Given the description of an element on the screen output the (x, y) to click on. 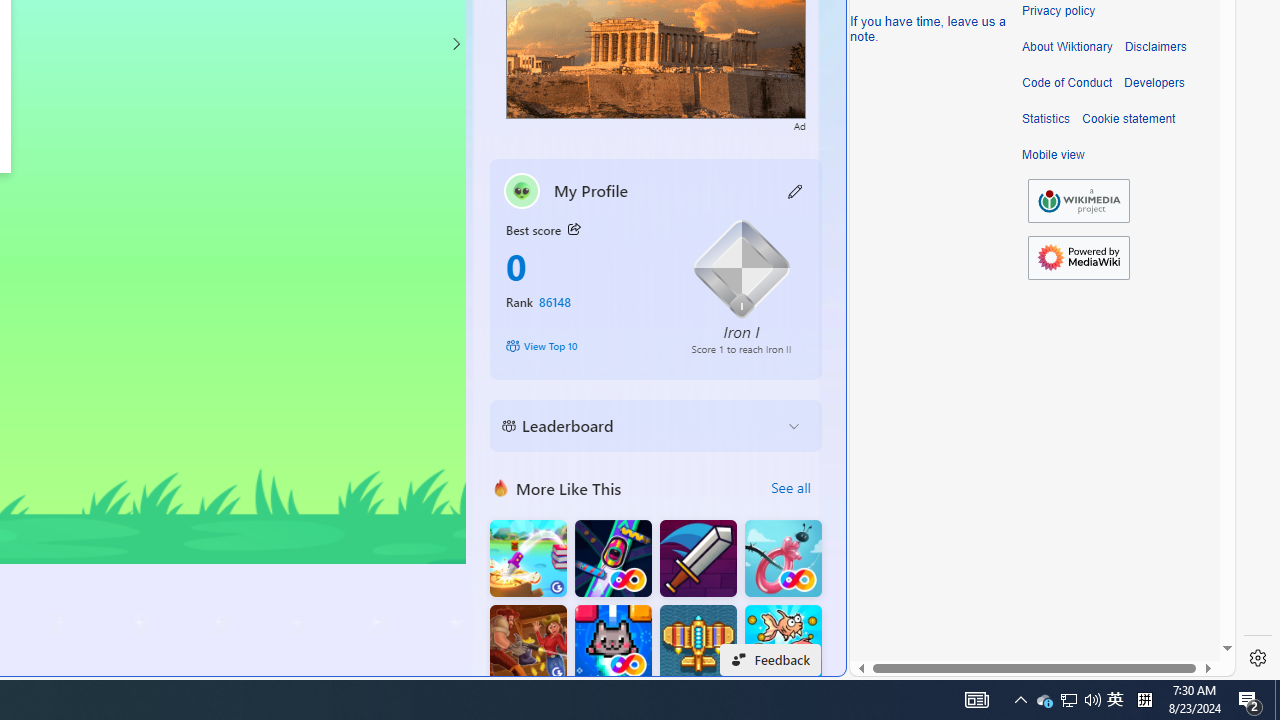
Mobile view (1053, 155)
Privacy policy (1058, 11)
If you have time, leave us a note. (927, 27)
Disclaimers (1154, 47)
AutomationID: footer-poweredbyico (1078, 257)
Leaderboard (639, 425)
Statistics (1046, 119)
Disclaimers (1154, 47)
Dungeon Master Knight (698, 558)
See all (790, 487)
